Given the description of an element on the screen output the (x, y) to click on. 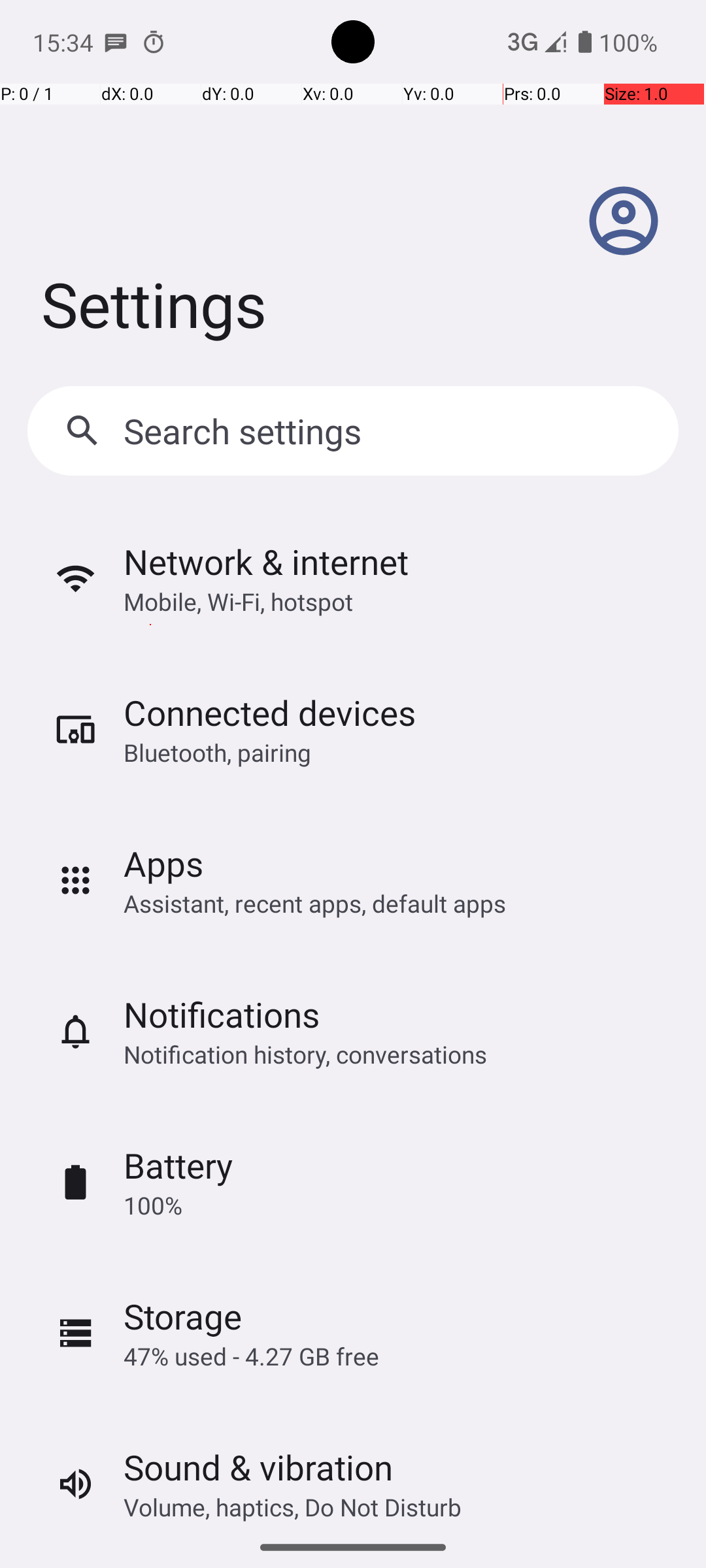
47% used - 4.27 GB free Element type: android.widget.TextView (251, 1355)
